Given the description of an element on the screen output the (x, y) to click on. 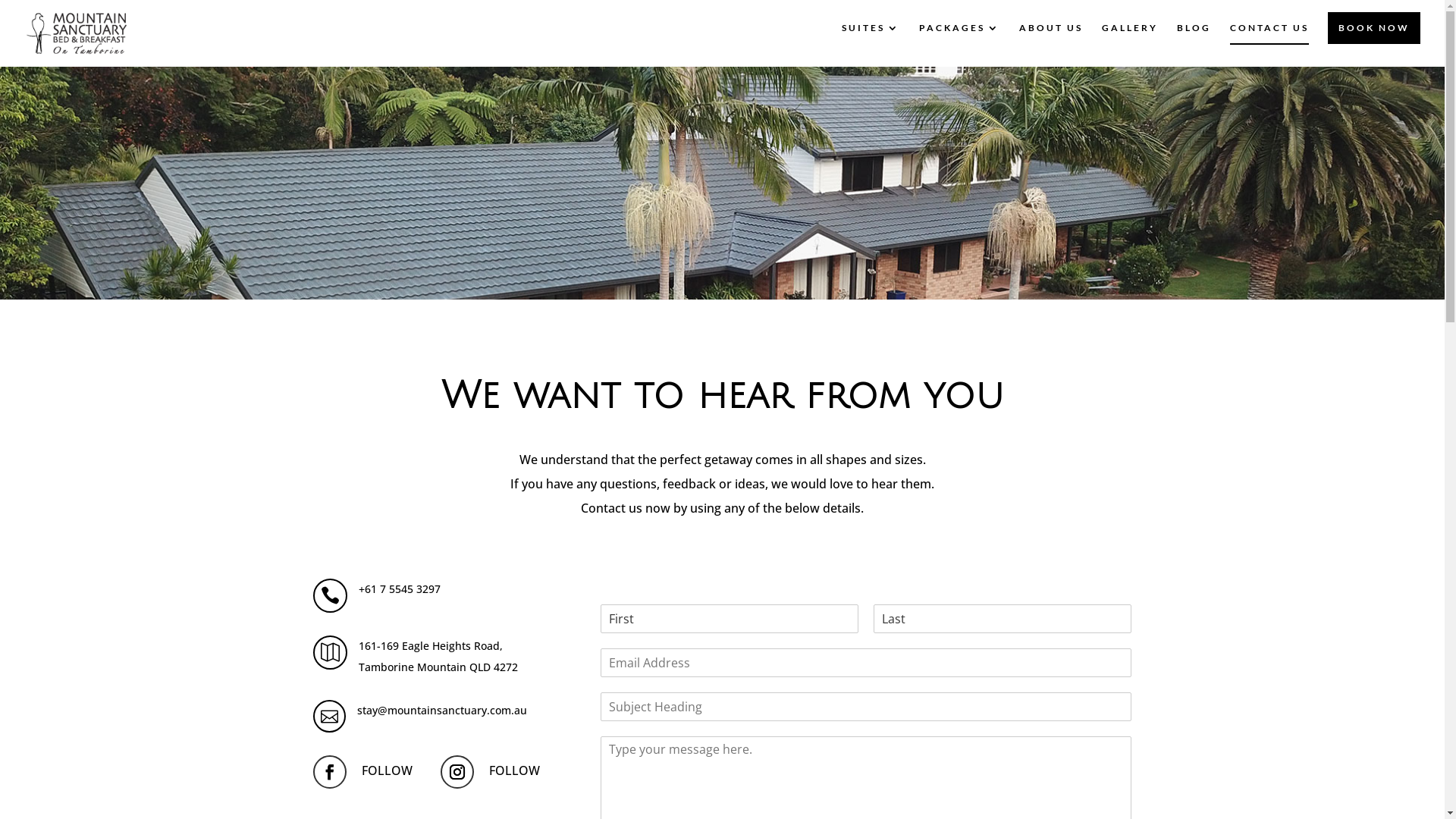
ABOUT US Element type: text (1050, 44)
PACKAGES Element type: text (959, 44)
BLOG Element type: text (1193, 44)
FOLLOW Element type: text (385, 771)
CONTACT US Element type: text (1269, 44)
GALLERY Element type: text (1129, 44)
FOLLOW Element type: text (513, 771)
Follow on Instagram Element type: hover (456, 771)
Follow on Facebook Element type: hover (328, 771)
BOOK NOW Element type: text (1373, 27)
SUITES Element type: text (870, 44)
